Given the description of an element on the screen output the (x, y) to click on. 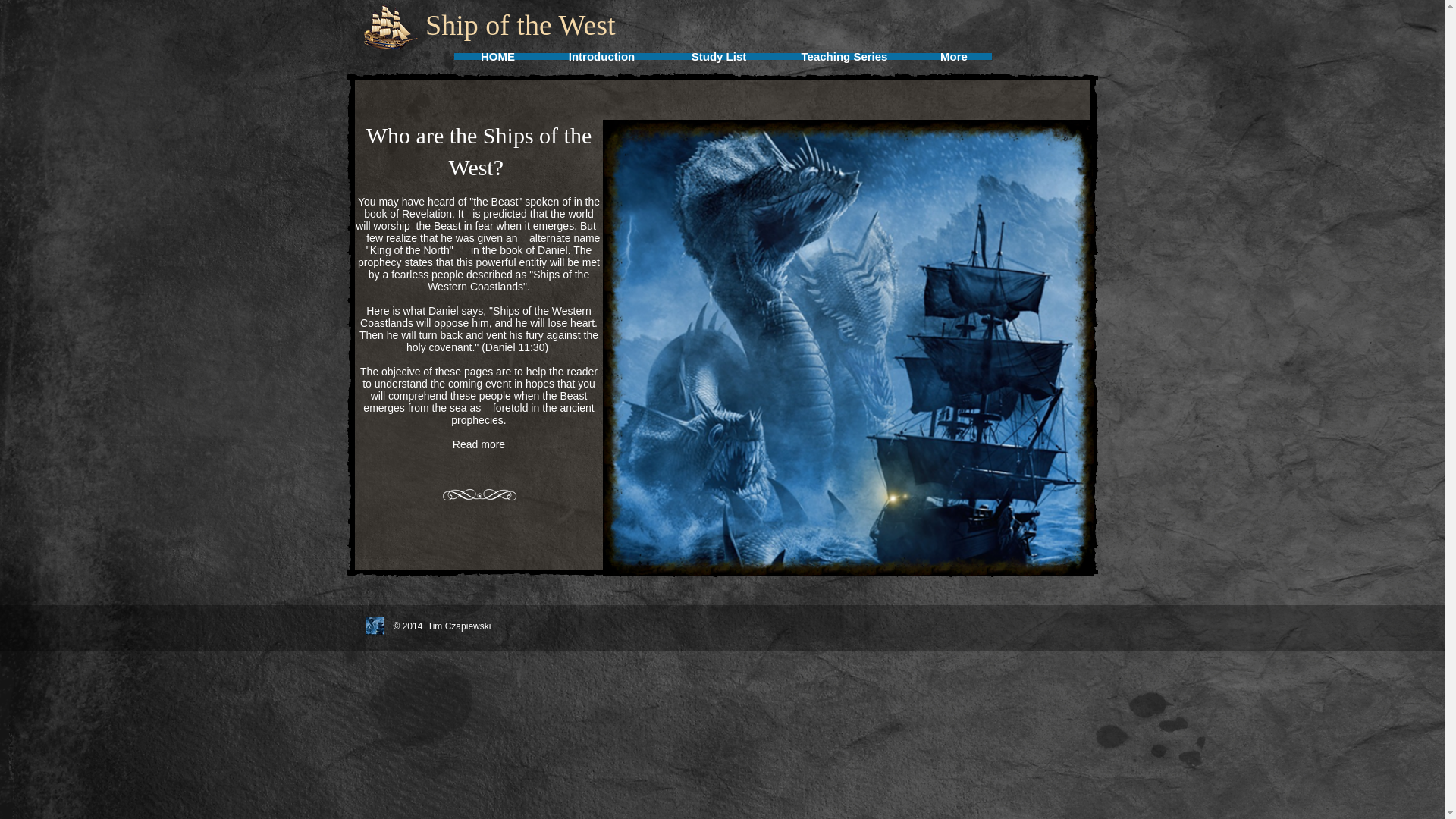
Study List (719, 56)
HOME (498, 56)
Ship of the West (389, 26)
Introduction (601, 56)
Teaching Series (844, 56)
1.png (479, 494)
